Given the description of an element on the screen output the (x, y) to click on. 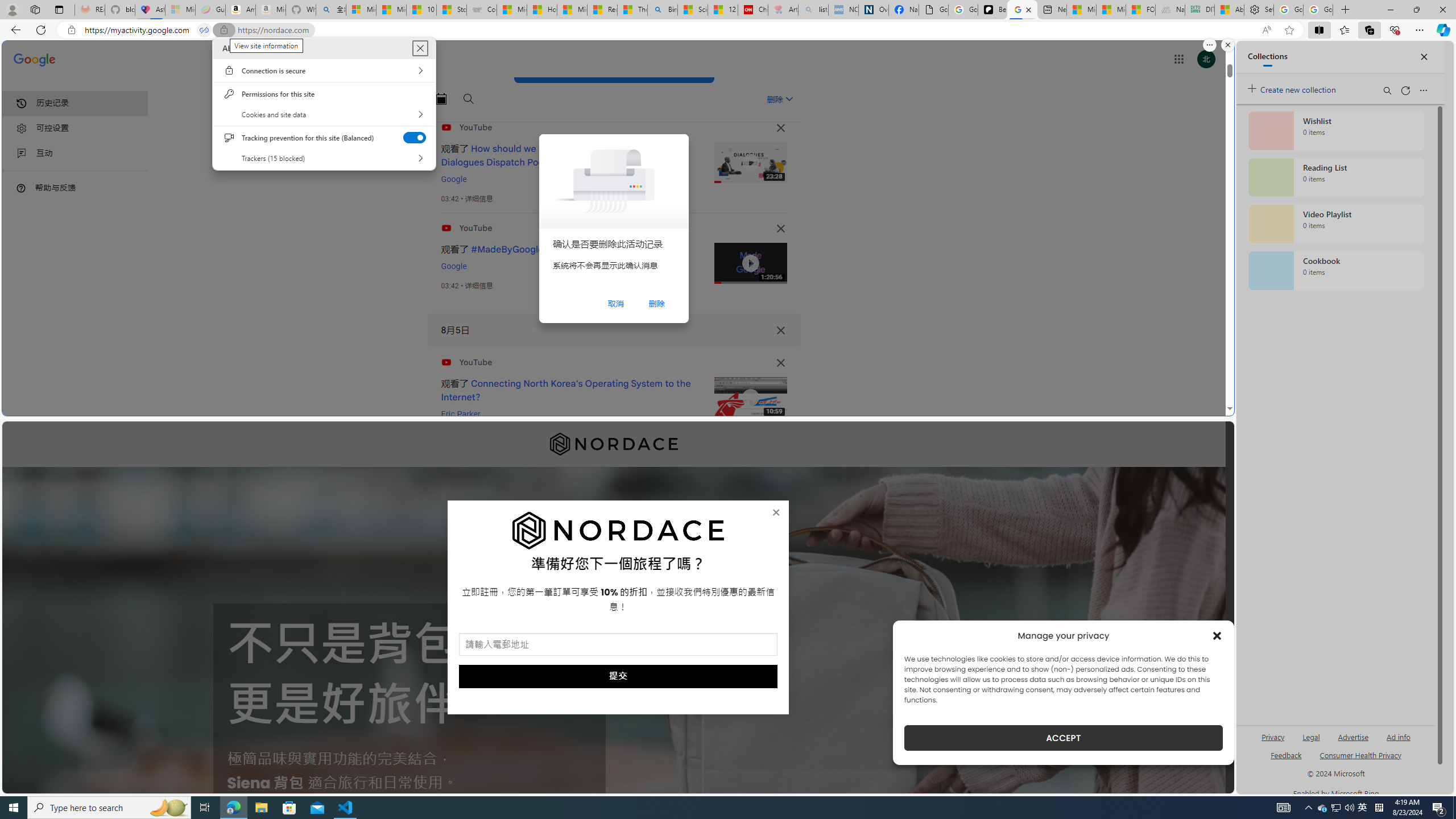
Microsoft-Report a Concern to Bing - Sleeping (180, 9)
How I Got Rid of Microsoft Edge's Unnecessary Features (542, 9)
Back (13, 29)
Task View (204, 807)
AutomationID: 4105 (1283, 807)
New Tab (1346, 9)
Microsoft Edge - 1 running window (233, 807)
Class: cmplz-close (1217, 635)
Navy Quest (1169, 9)
Browser essentials (1394, 29)
